Given the description of an element on the screen output the (x, y) to click on. 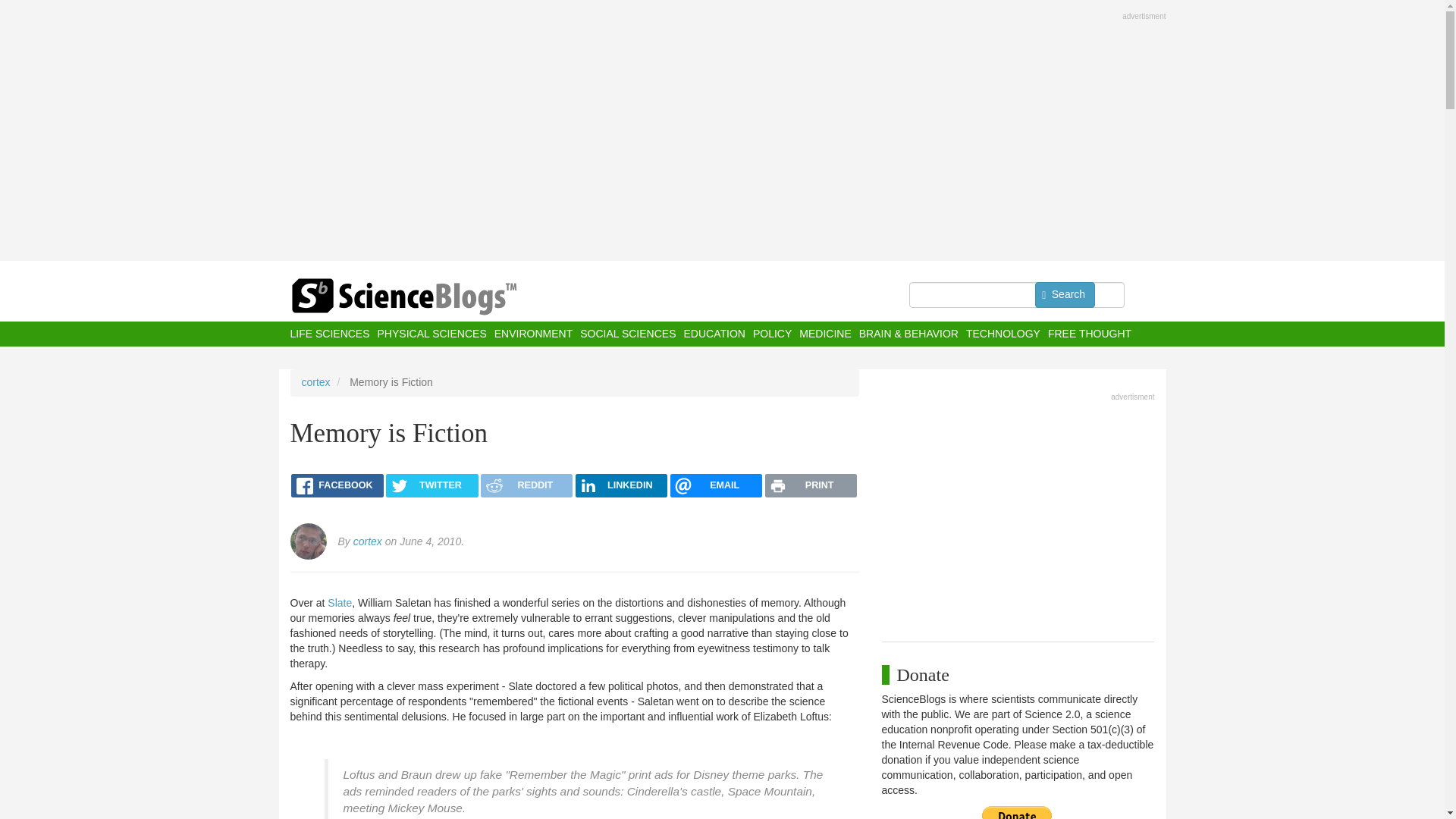
POLICY (772, 334)
FREE THOUGHT (1089, 334)
Slate (339, 603)
MEDICINE (824, 334)
EDUCATION (713, 334)
Advertisement (1017, 512)
ENVIRONMENT (533, 334)
PayPal - The safer, easier way to pay online! (1016, 812)
PHYSICAL SCIENCES (431, 334)
PRINT (811, 485)
REDDIT (526, 485)
FACEBOOK (336, 485)
cortex (367, 541)
Search (1064, 294)
